Given the description of an element on the screen output the (x, y) to click on. 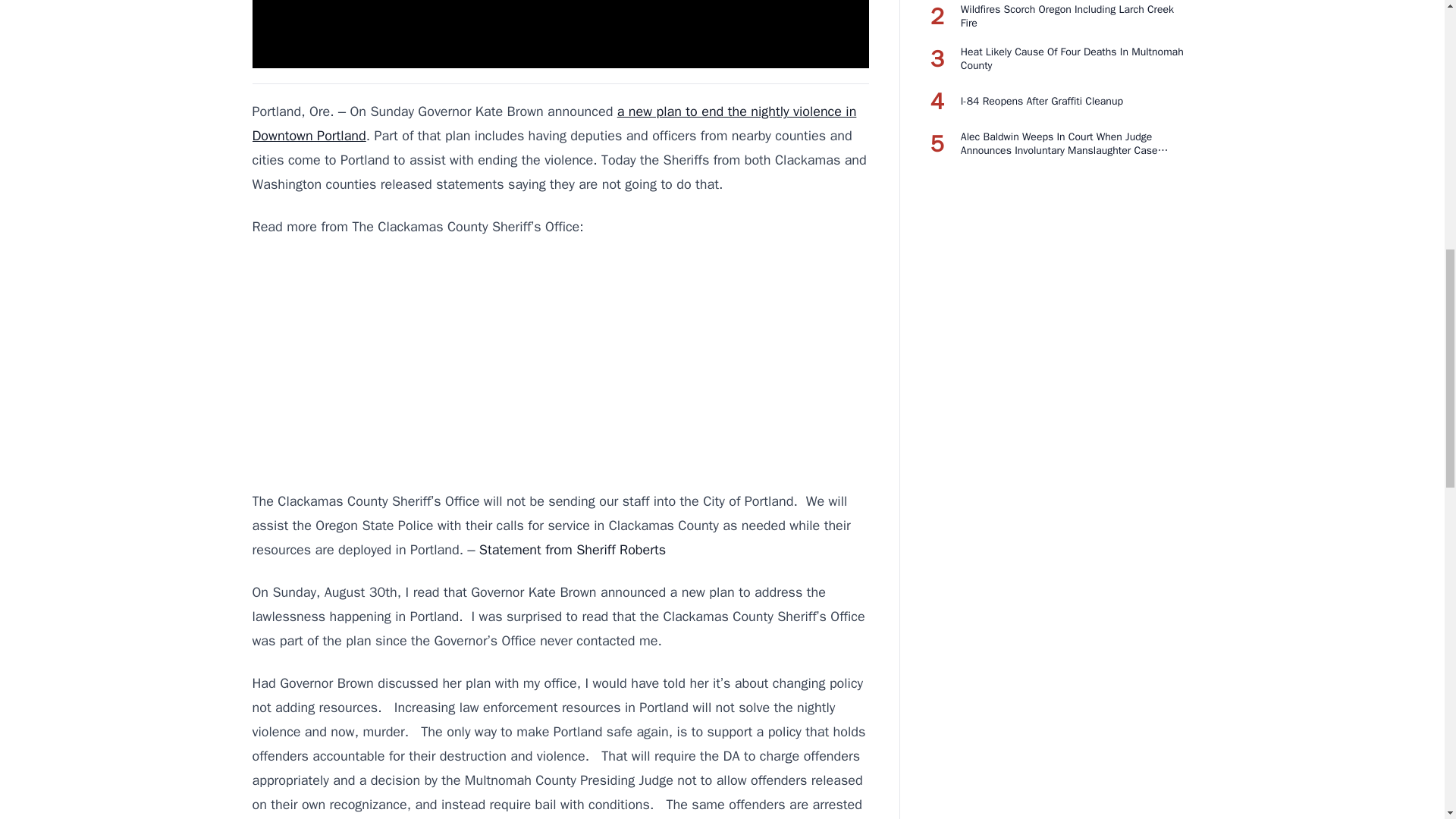
3rd party ad content (560, 363)
